Given the description of an element on the screen output the (x, y) to click on. 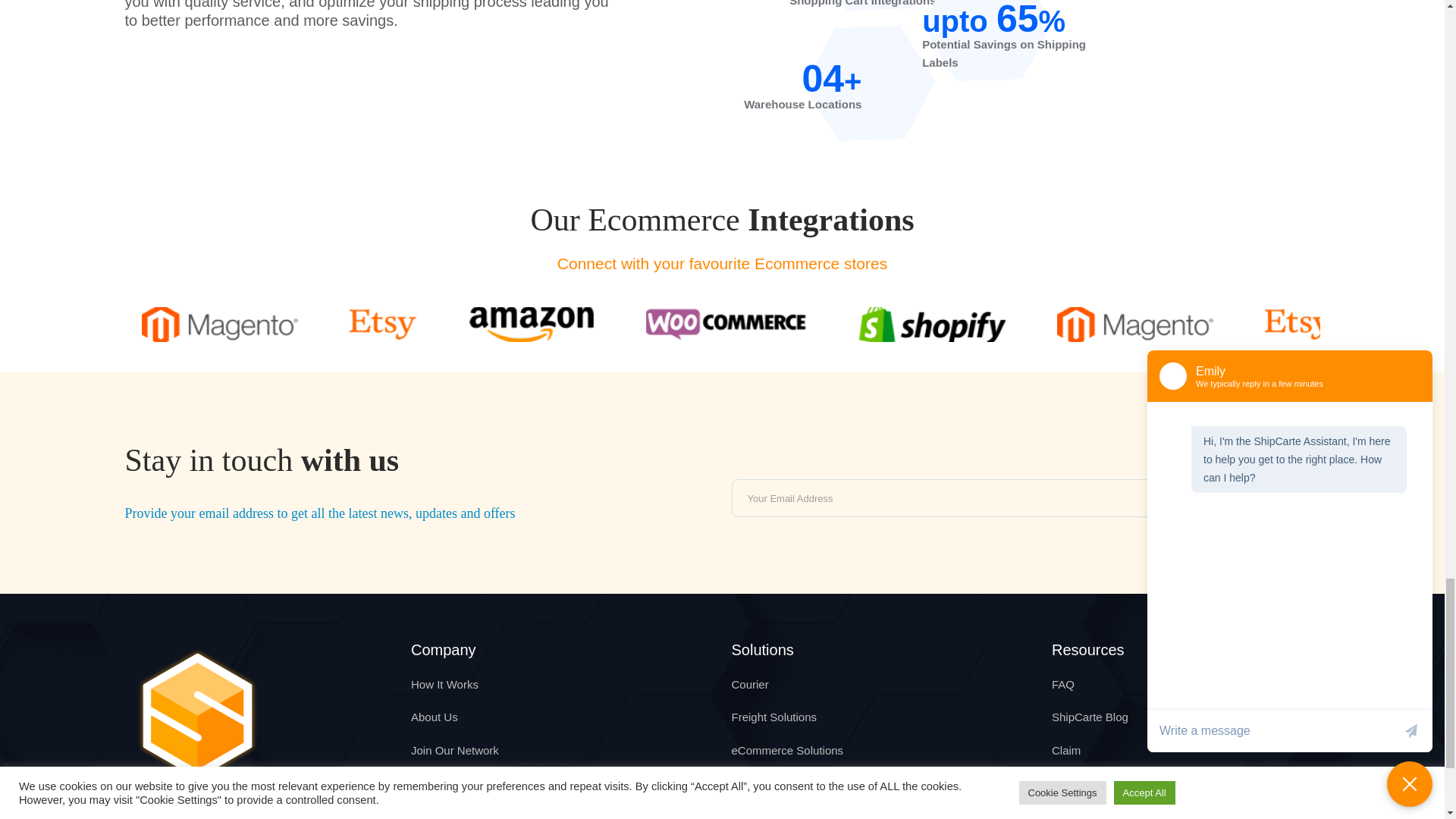
Join Our Network (454, 749)
Submit (1269, 498)
eCommerce Solutions (786, 749)
Courier (749, 684)
Submit (1269, 498)
Warehousing and Fulfillment (802, 783)
How It Works (444, 684)
Freight Solutions (773, 716)
Careers (430, 783)
About Us (434, 716)
